Given the description of an element on the screen output the (x, y) to click on. 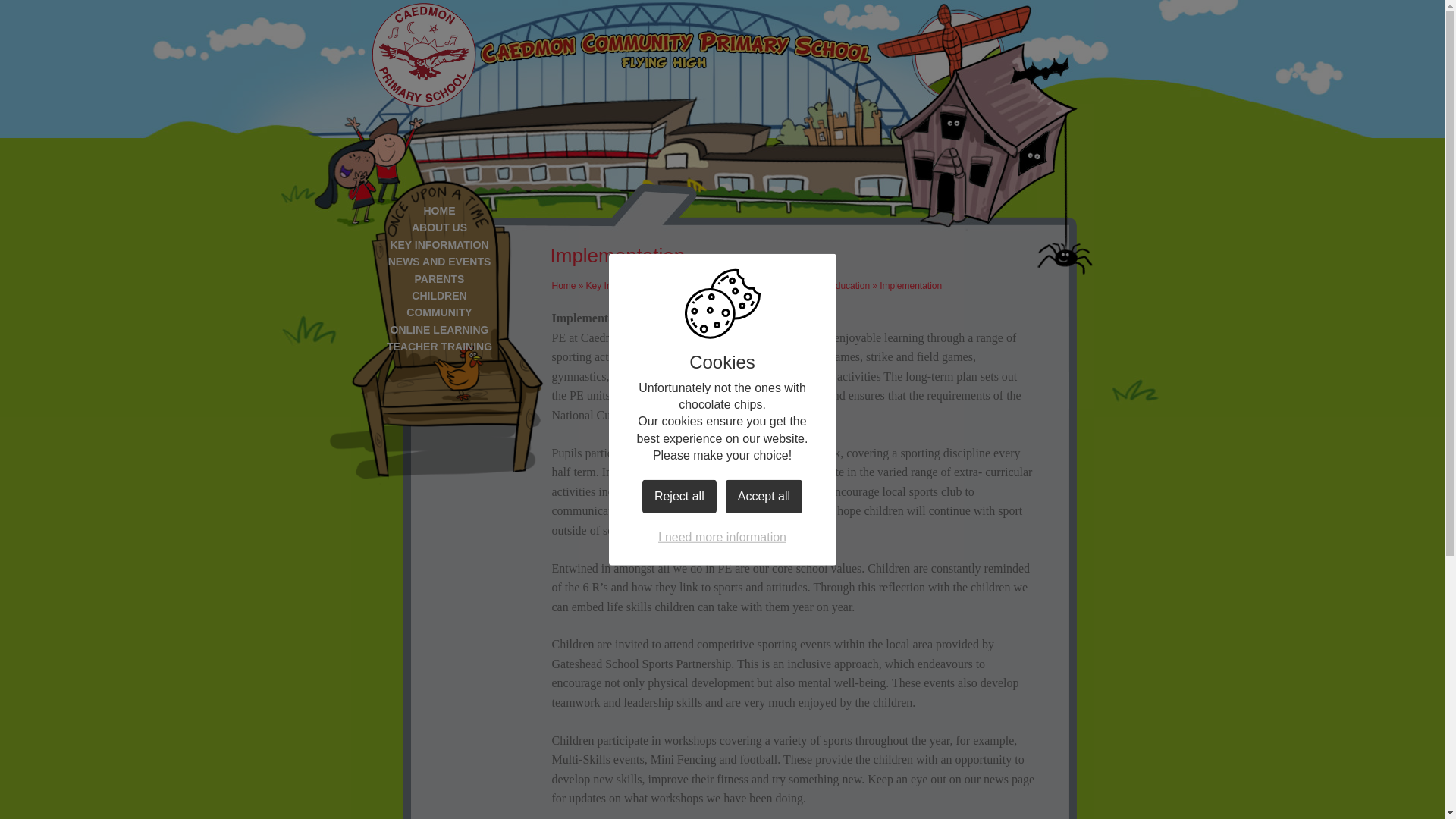
HOME (438, 210)
Home Page (423, 54)
KEY INFORMATION (438, 244)
Key Information (617, 285)
Home (563, 285)
Implementation (910, 285)
Curriculum (681, 285)
ABOUT US (438, 227)
Home Page (423, 54)
Physical Education (831, 285)
Curriculum Areas (748, 285)
